Given the description of an element on the screen output the (x, y) to click on. 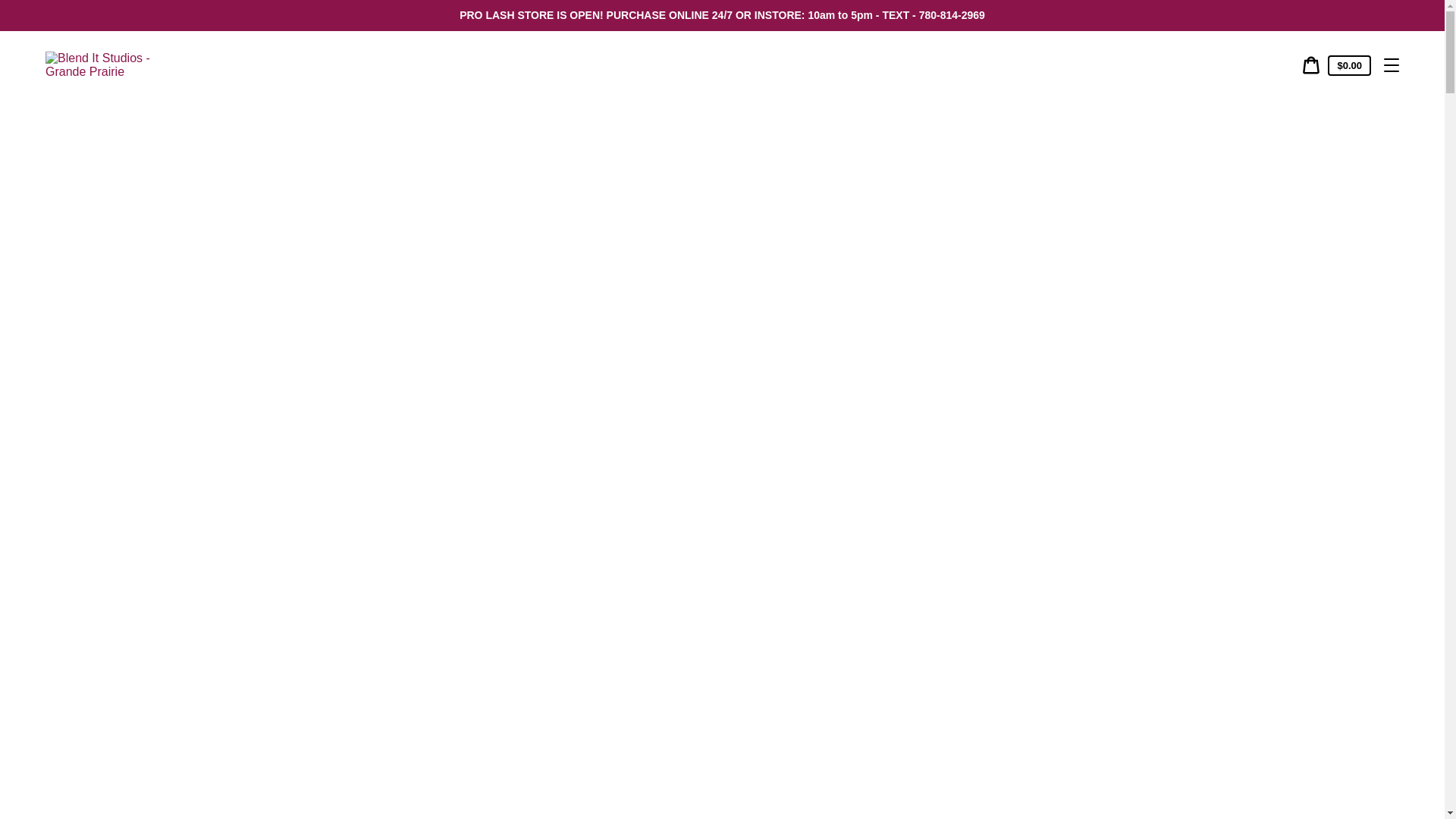
Cart Element type: text (1310, 64)
